Given the description of an element on the screen output the (x, y) to click on. 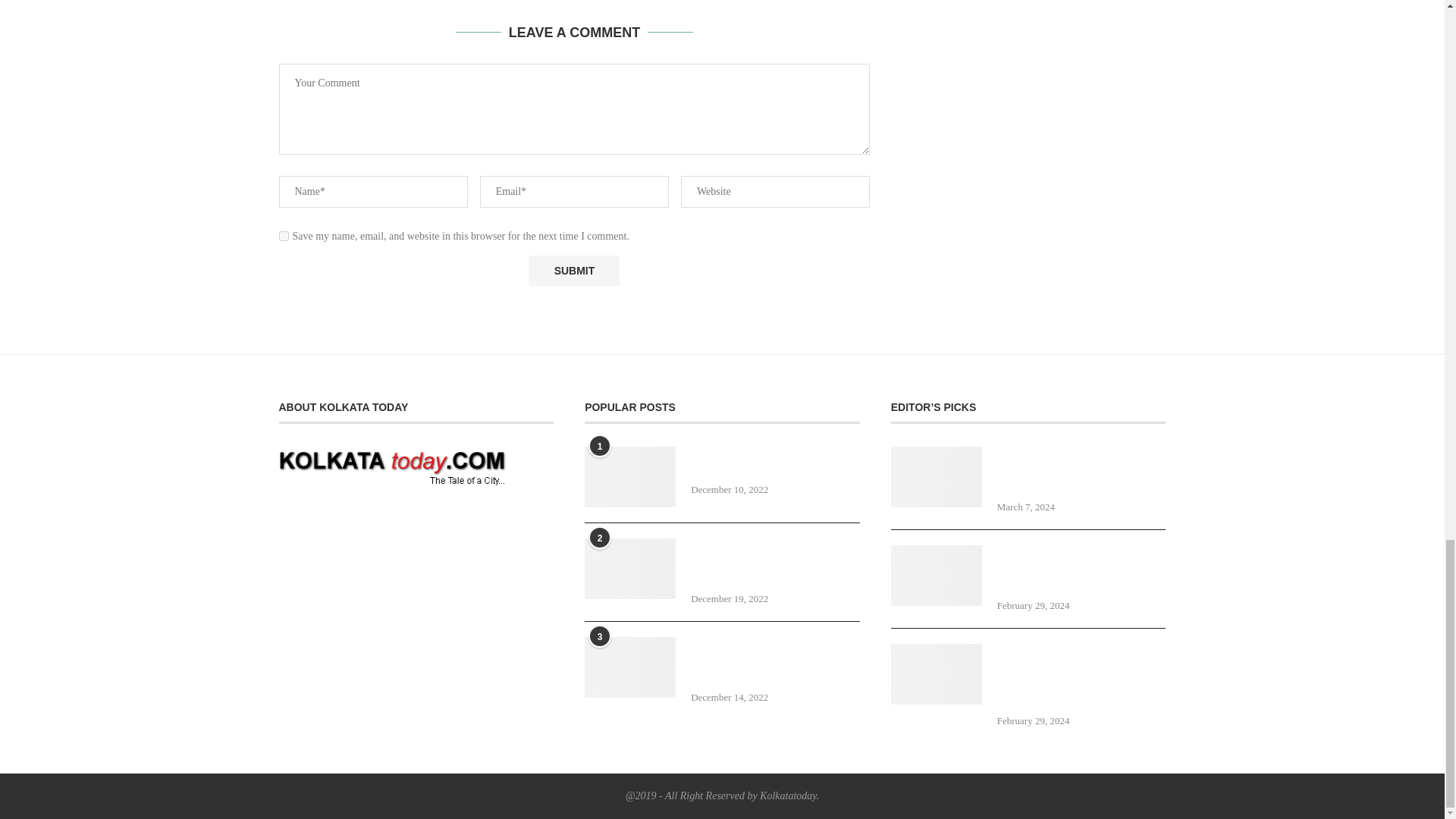
Submit (574, 270)
yes (283, 235)
